Given the description of an element on the screen output the (x, y) to click on. 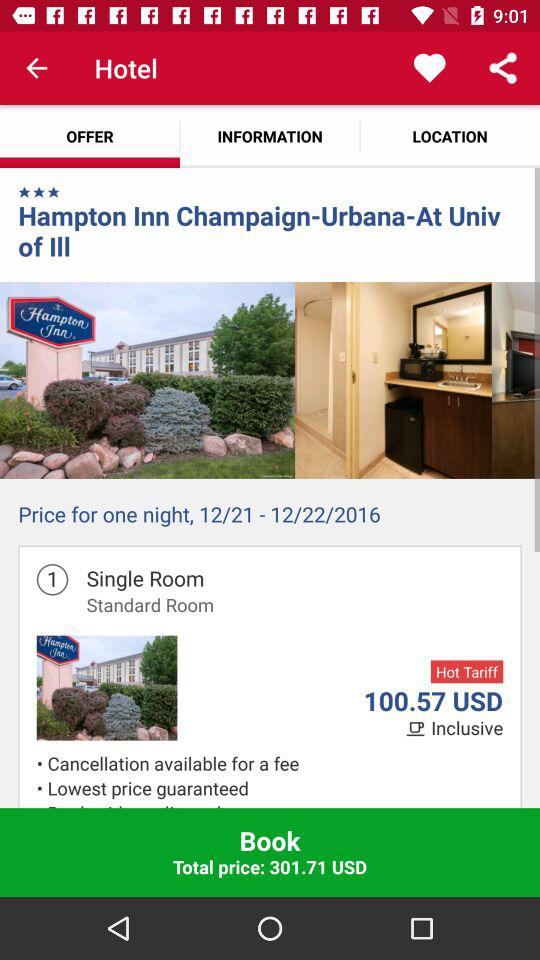
tap item above cancellation available for item (467, 728)
